Given the description of an element on the screen output the (x, y) to click on. 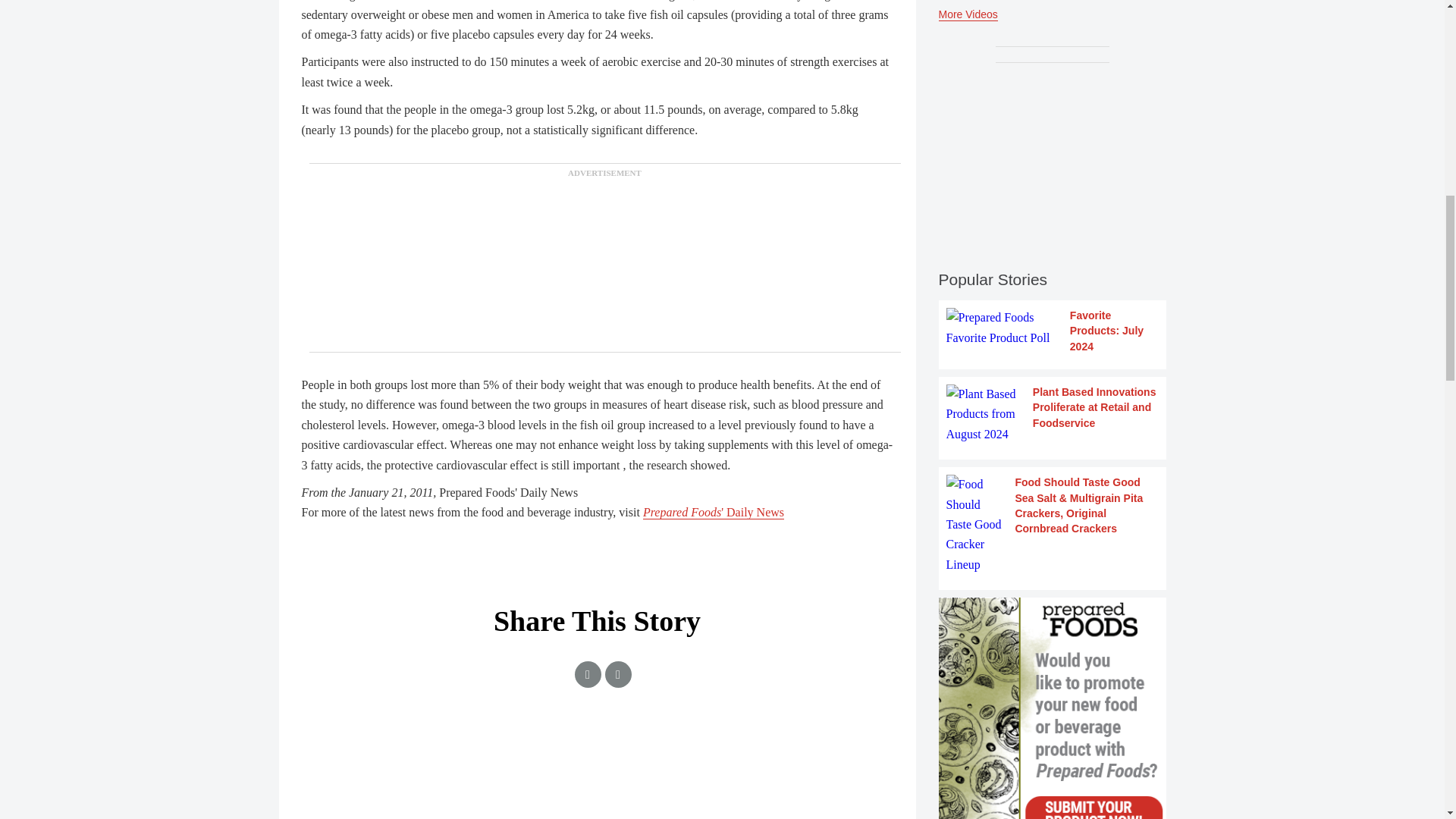
Favorite Products: July 2024 (1052, 330)
Interaction questions (597, 777)
